Given the description of an element on the screen output the (x, y) to click on. 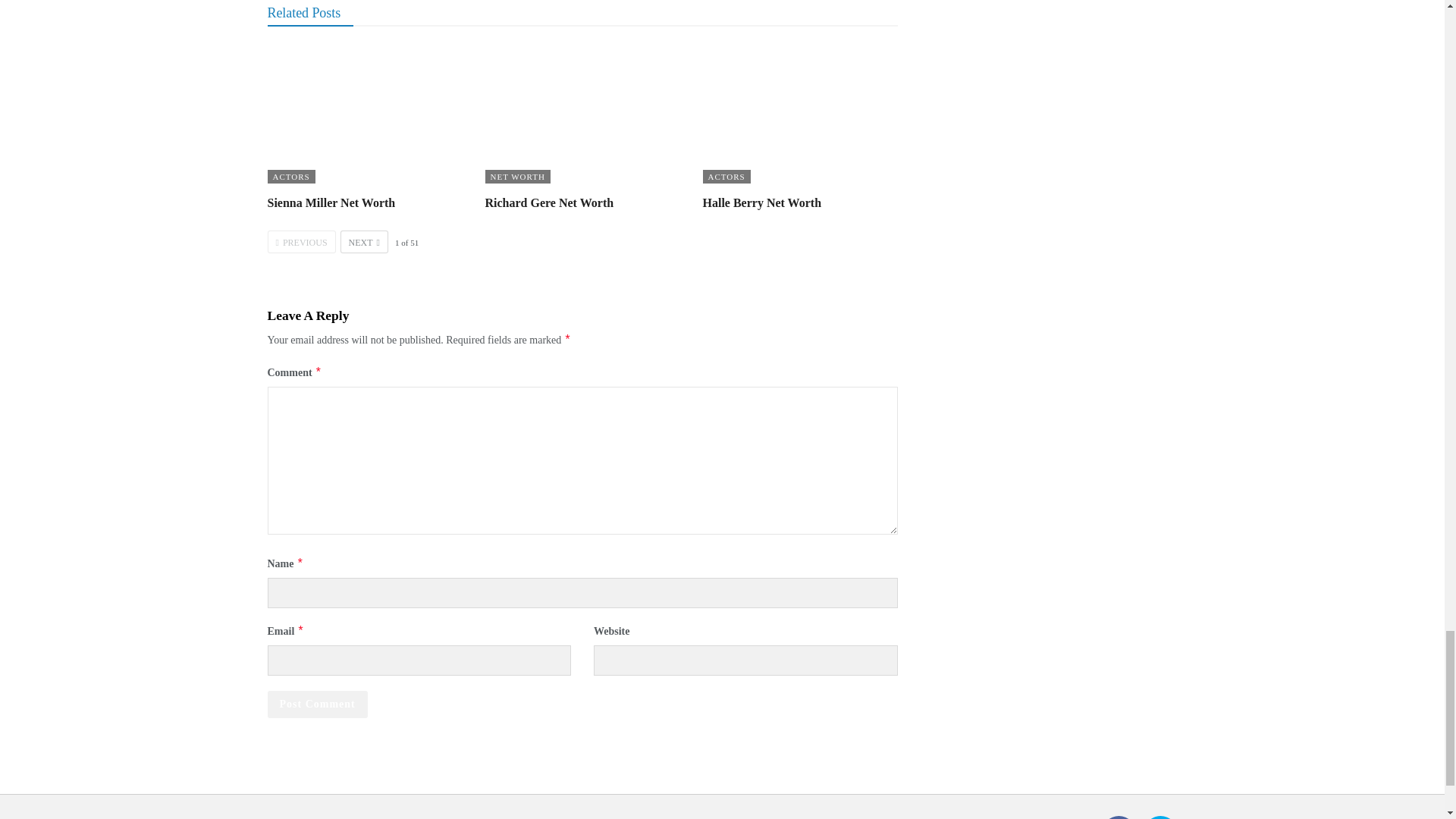
Halle Berry Net Worth (761, 202)
Sienna Miller Net Worth (363, 113)
Sienna Miller Net Worth (330, 202)
ACTORS (290, 176)
Next (364, 241)
Previous (300, 241)
Halle Berry Net Worth (798, 113)
Richard Gere Net Worth (549, 202)
Post Comment (316, 704)
Richard Gere Net Worth (581, 113)
